Given the description of an element on the screen output the (x, y) to click on. 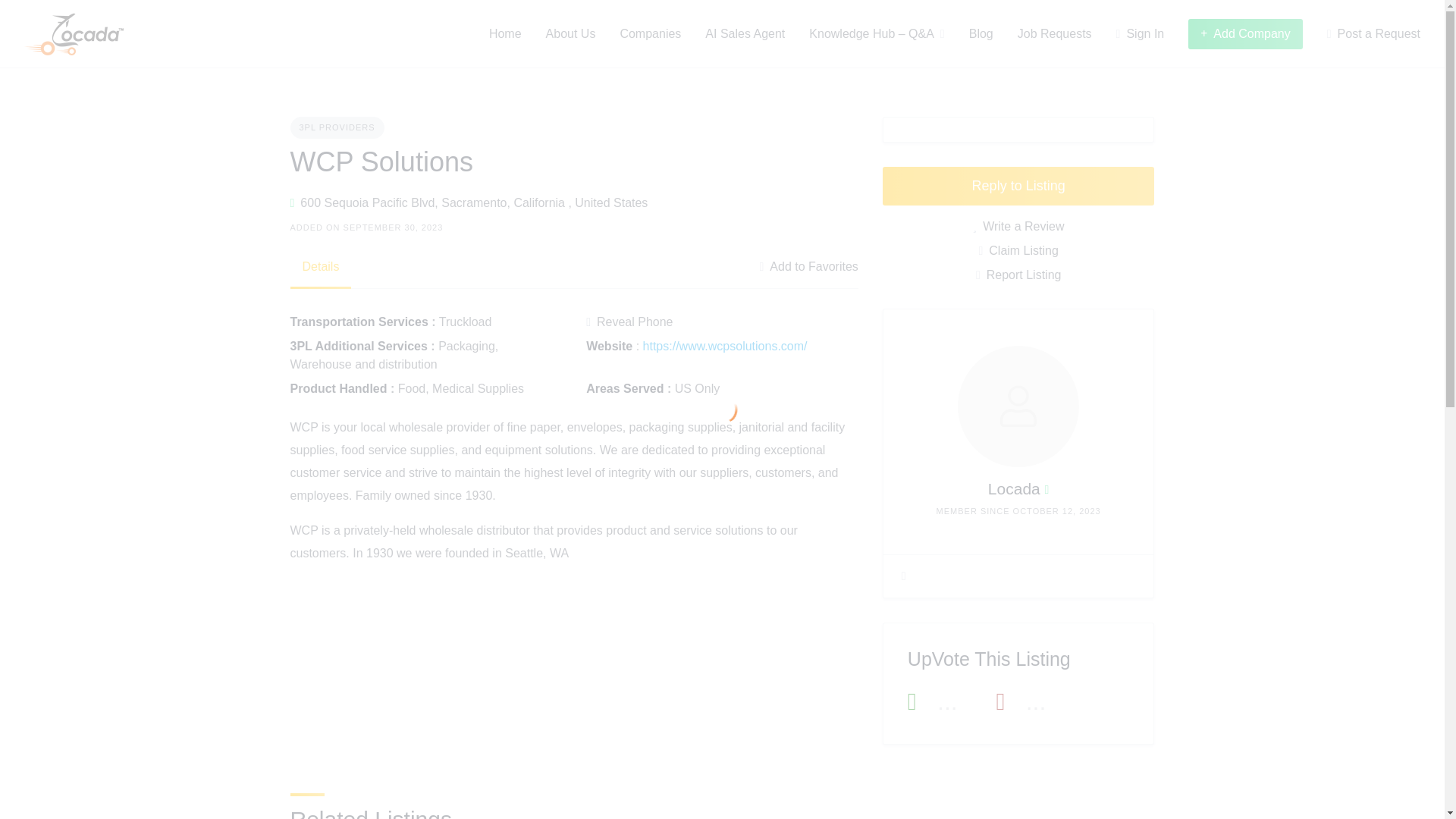
Reveal Phone (629, 321)
Job Requests (1054, 33)
Post a Request (1373, 33)
Write a Review (1018, 226)
3PL PROVIDERS (336, 127)
Claim Listing (1018, 250)
Companies (650, 33)
Add Company (1245, 33)
Report Listing (1018, 275)
Home (505, 33)
Sign In (1140, 33)
About Us (570, 33)
Blog (980, 33)
Details (320, 266)
